Given the description of an element on the screen output the (x, y) to click on. 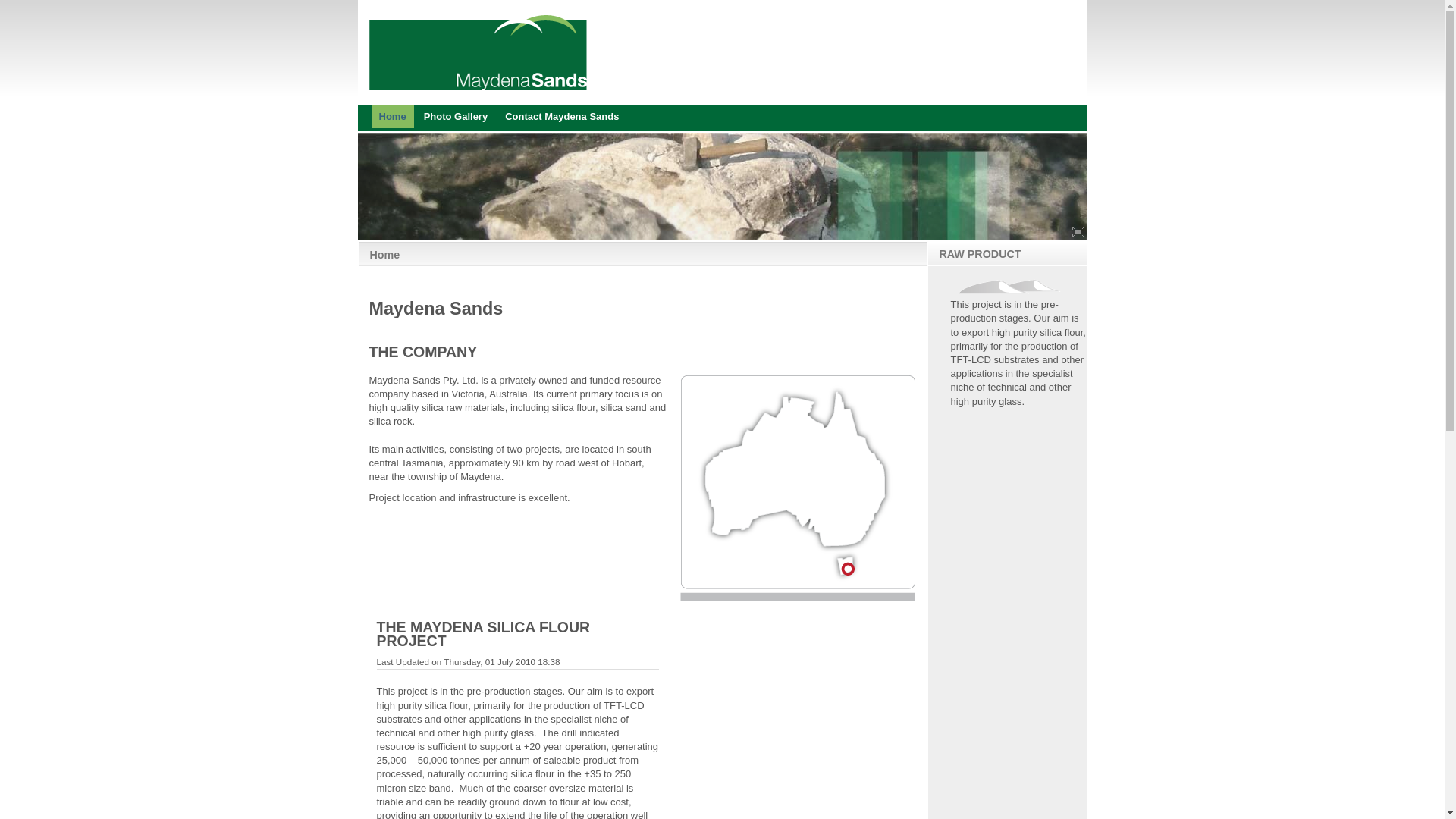
Contact Maydena Sands Element type: text (561, 116)
Home Element type: text (392, 116)
Photo Gallery Element type: text (455, 116)
